Given the description of an element on the screen output the (x, y) to click on. 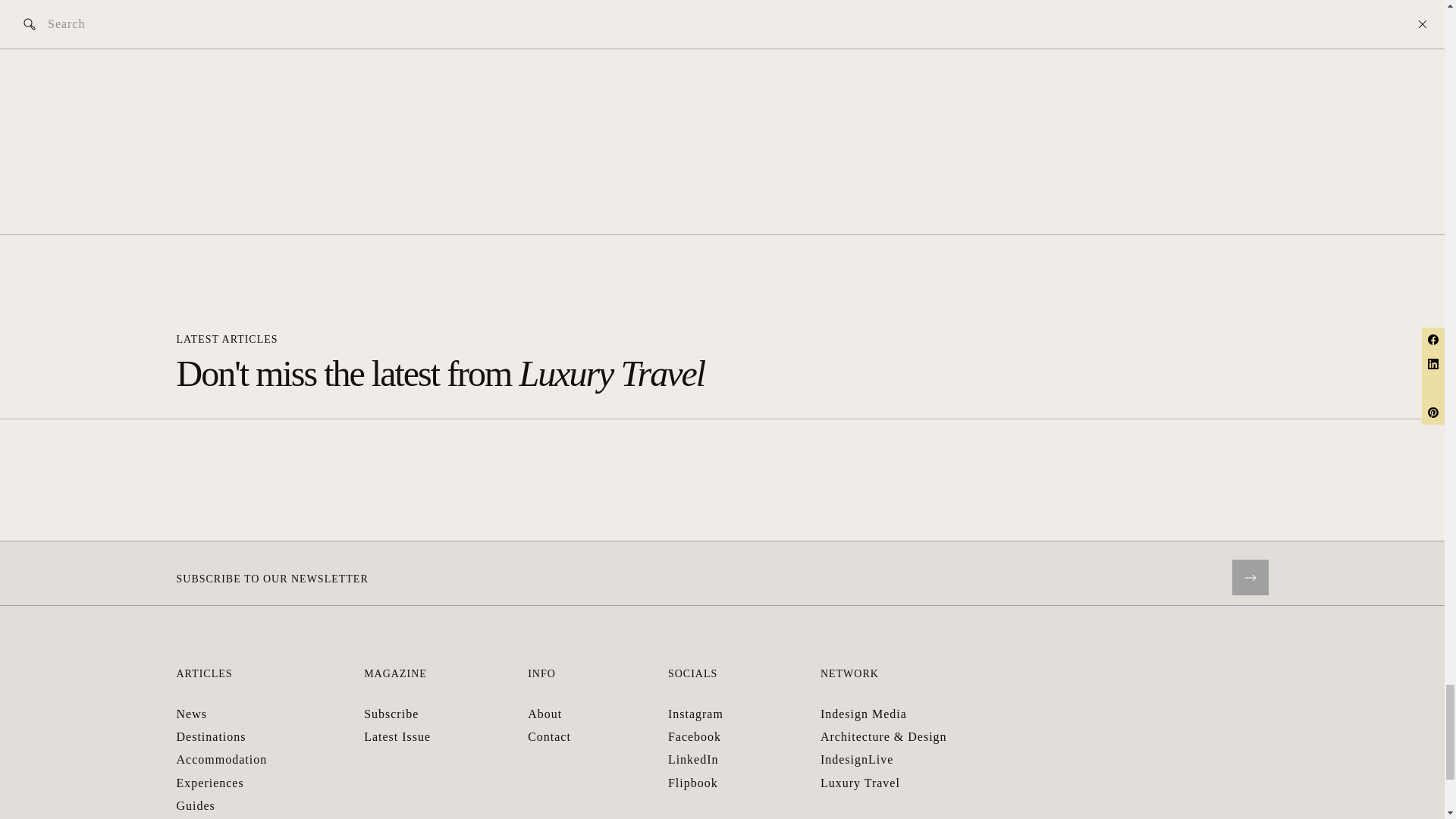
Latest Issue (397, 736)
Experiences (209, 782)
Destinations (211, 736)
Flipbook (692, 782)
Accommodation (221, 758)
Instagram (695, 713)
Contact (548, 736)
News (191, 713)
Guides (195, 805)
Subscribe (391, 713)
LinkedIn (693, 758)
Facebook (694, 736)
About (544, 713)
